Given the description of an element on the screen output the (x, y) to click on. 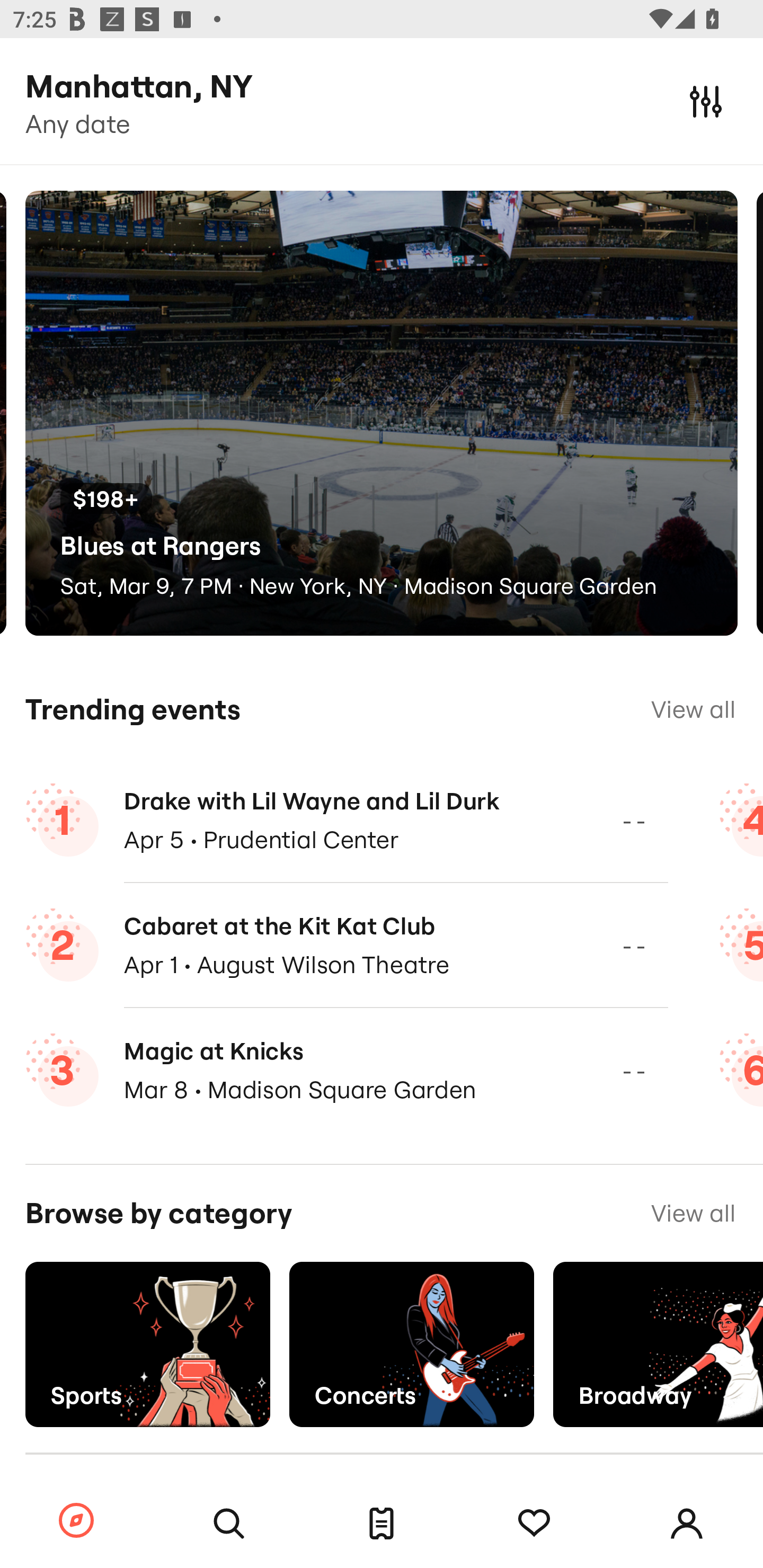
Filters (705, 100)
View all (693, 709)
View all (693, 1213)
Sports (147, 1344)
Concerts (411, 1344)
Broadway (658, 1344)
Browse (76, 1521)
Search (228, 1523)
Tickets (381, 1523)
Tracking (533, 1523)
Account (686, 1523)
